Given the description of an element on the screen output the (x, y) to click on. 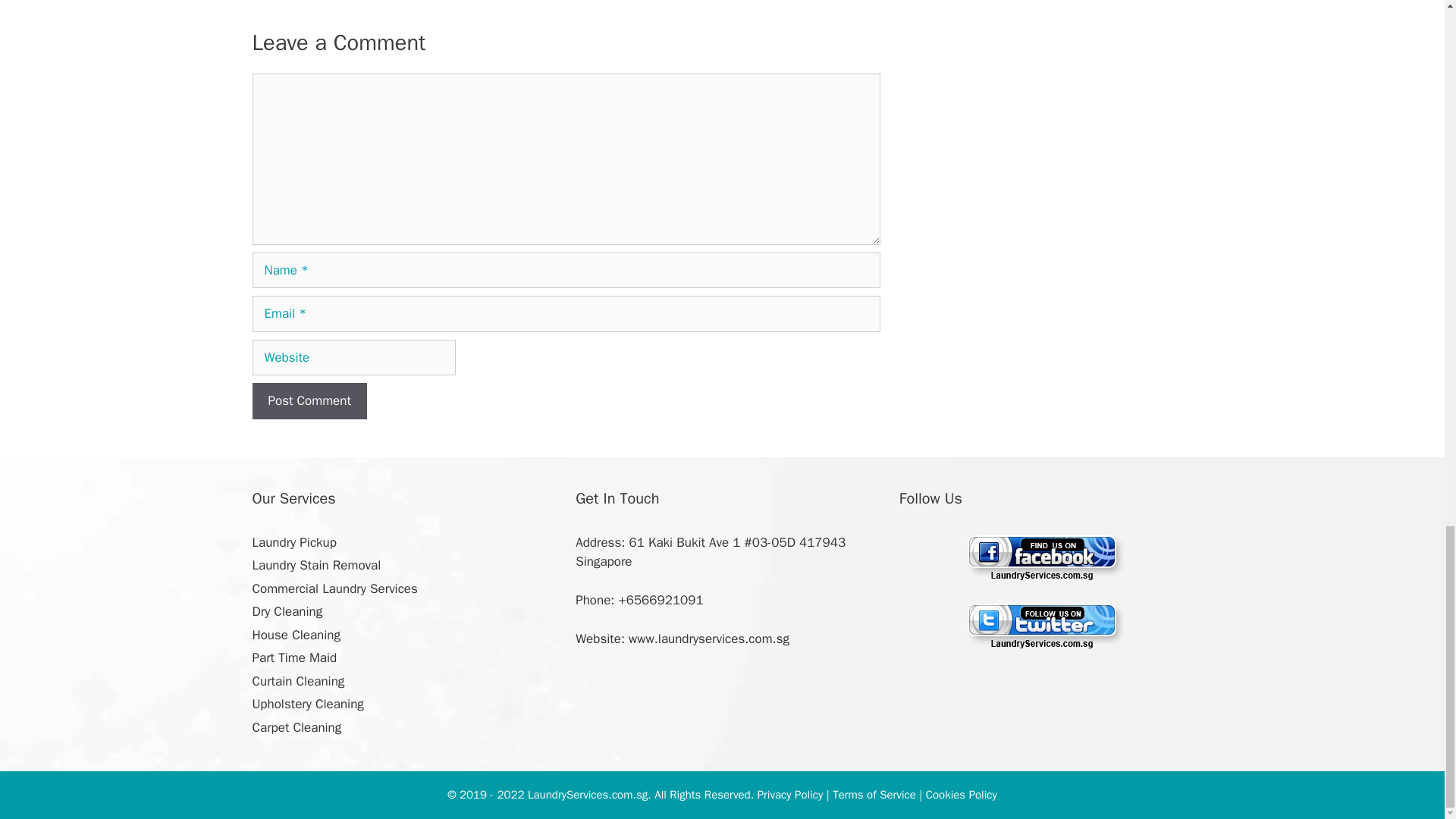
Laundry Stain Removal (315, 565)
Dry Cleaning (286, 611)
Terms of Service (873, 794)
Privacy Policy (790, 794)
Upholstery Cleaning (306, 703)
Part Time Maid (293, 657)
Commercial Laundry Services (333, 588)
Post Comment (308, 401)
Laundry Pickup (293, 542)
Carpet Cleaning (295, 727)
